Given the description of an element on the screen output the (x, y) to click on. 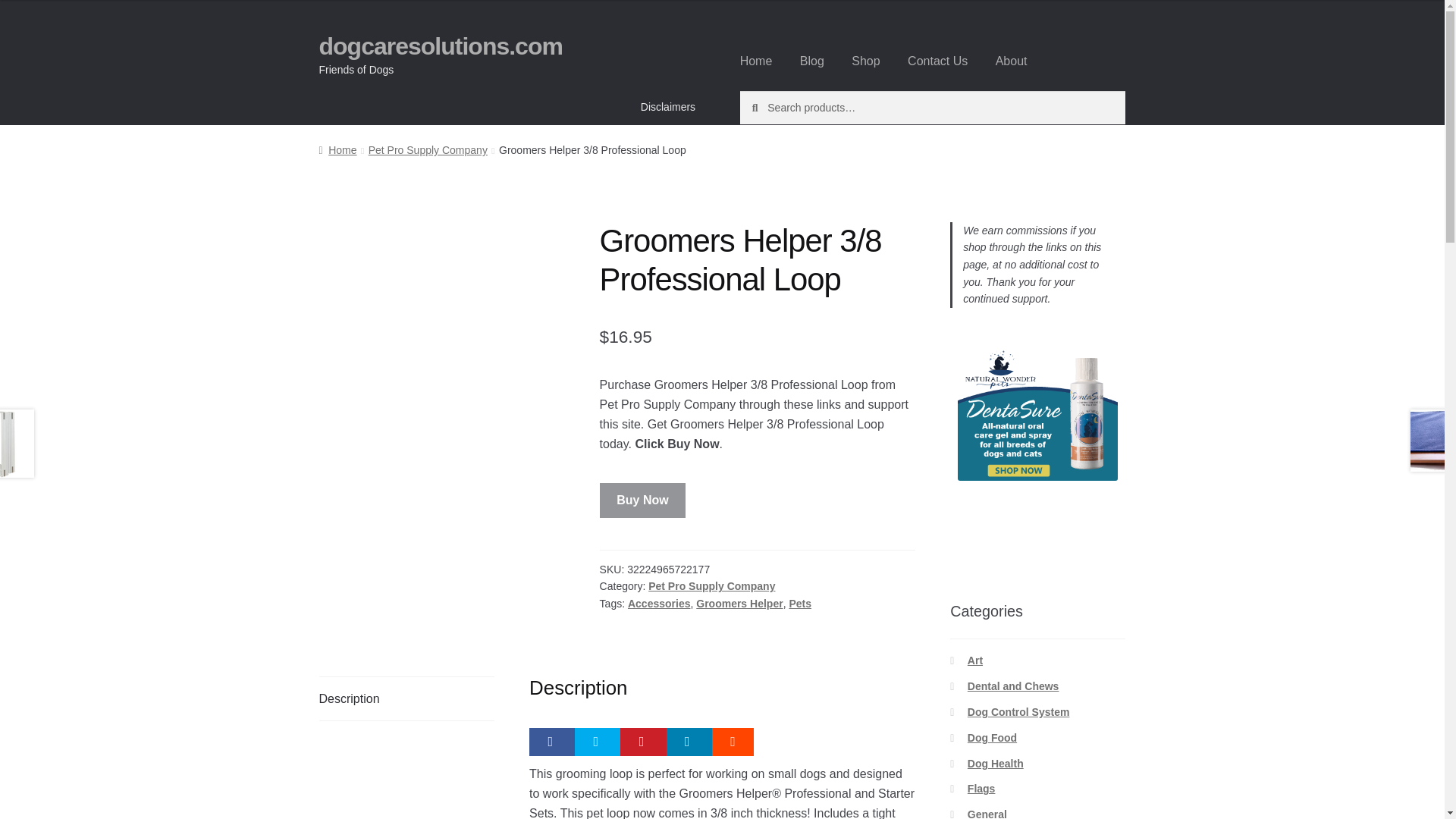
Contact Us (937, 60)
About (1011, 60)
Description (406, 698)
Home (337, 150)
Pets (799, 603)
Buy Now (642, 500)
Home (756, 60)
Disclaimers (667, 106)
dogcaresolutions.com (440, 45)
